Given the description of an element on the screen output the (x, y) to click on. 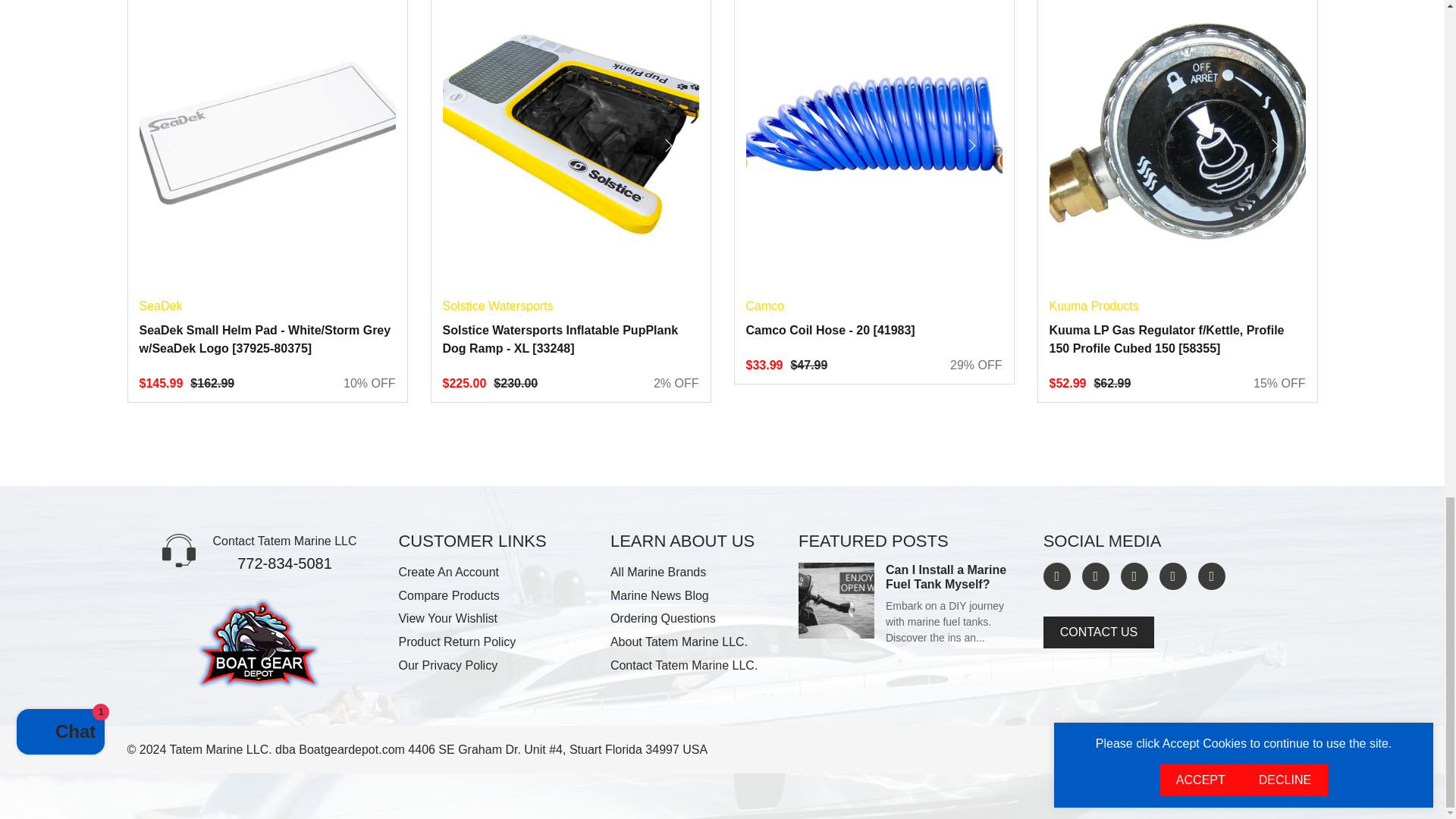
Twitter (1056, 575)
Pinterest (1134, 575)
Instagram (1172, 575)
Visa (1306, 750)
Discover (1257, 750)
Mastercard (1282, 750)
Facebook (1095, 575)
RSS (1211, 575)
Diners Club (1233, 750)
American Express (1209, 750)
